Given the description of an element on the screen output the (x, y) to click on. 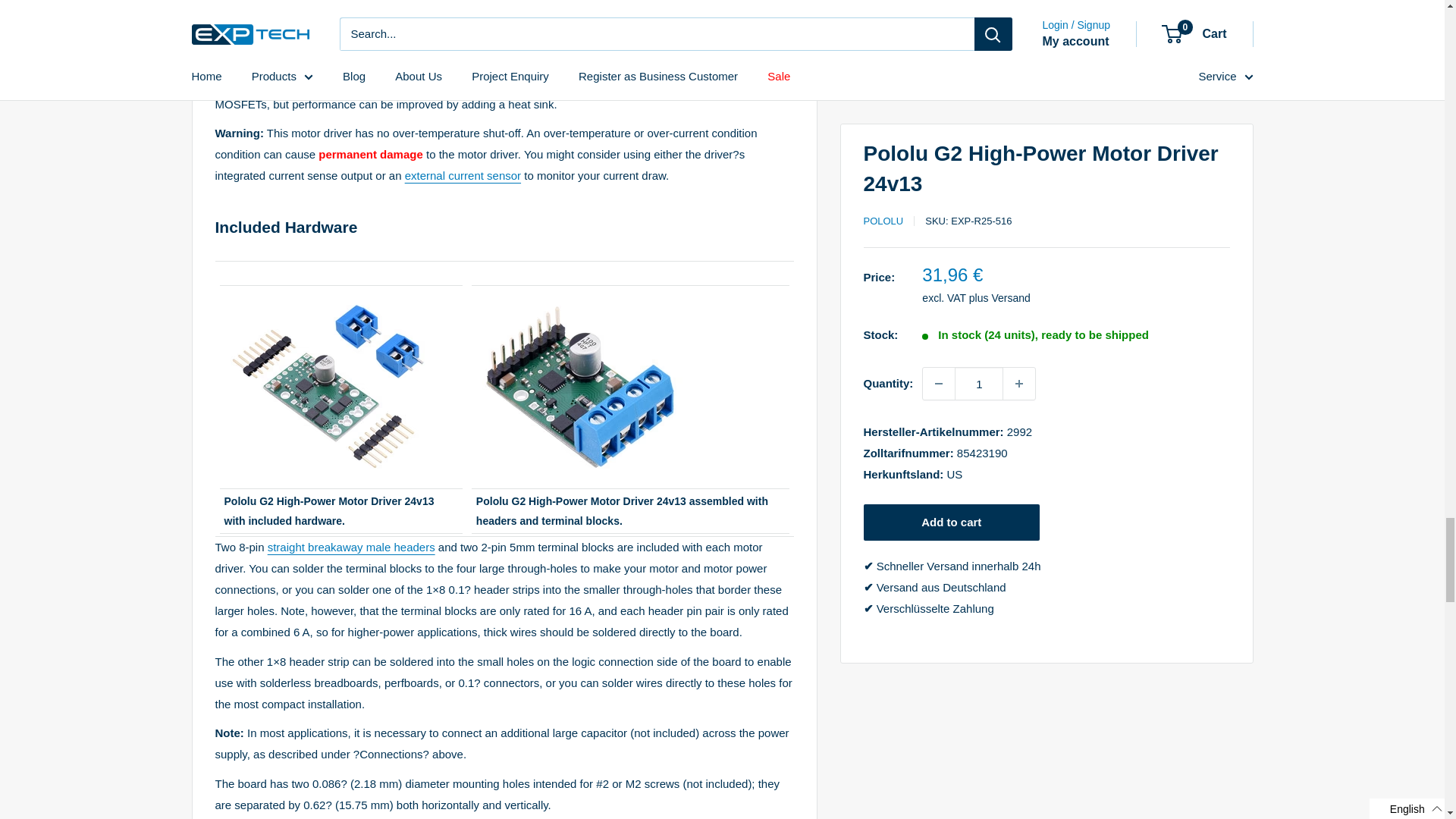
Click to zoom (328, 297)
Click to zoom (580, 297)
